Given the description of an element on the screen output the (x, y) to click on. 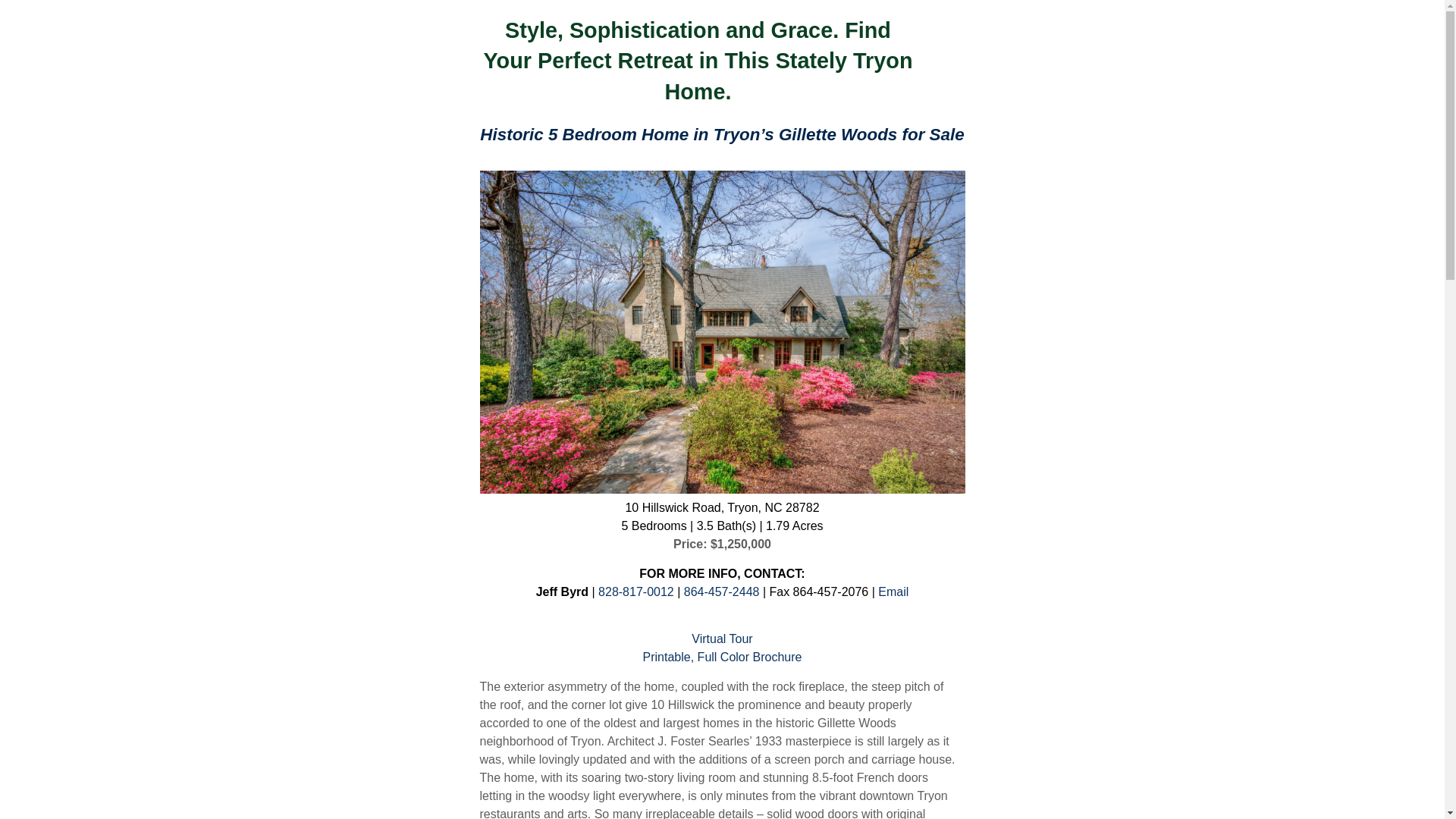
Printable, Full Color Brochure (722, 656)
Email (892, 591)
828-817-0012 (636, 591)
864-457-2448 (723, 591)
Virtual Tour (721, 638)
